Given the description of an element on the screen output the (x, y) to click on. 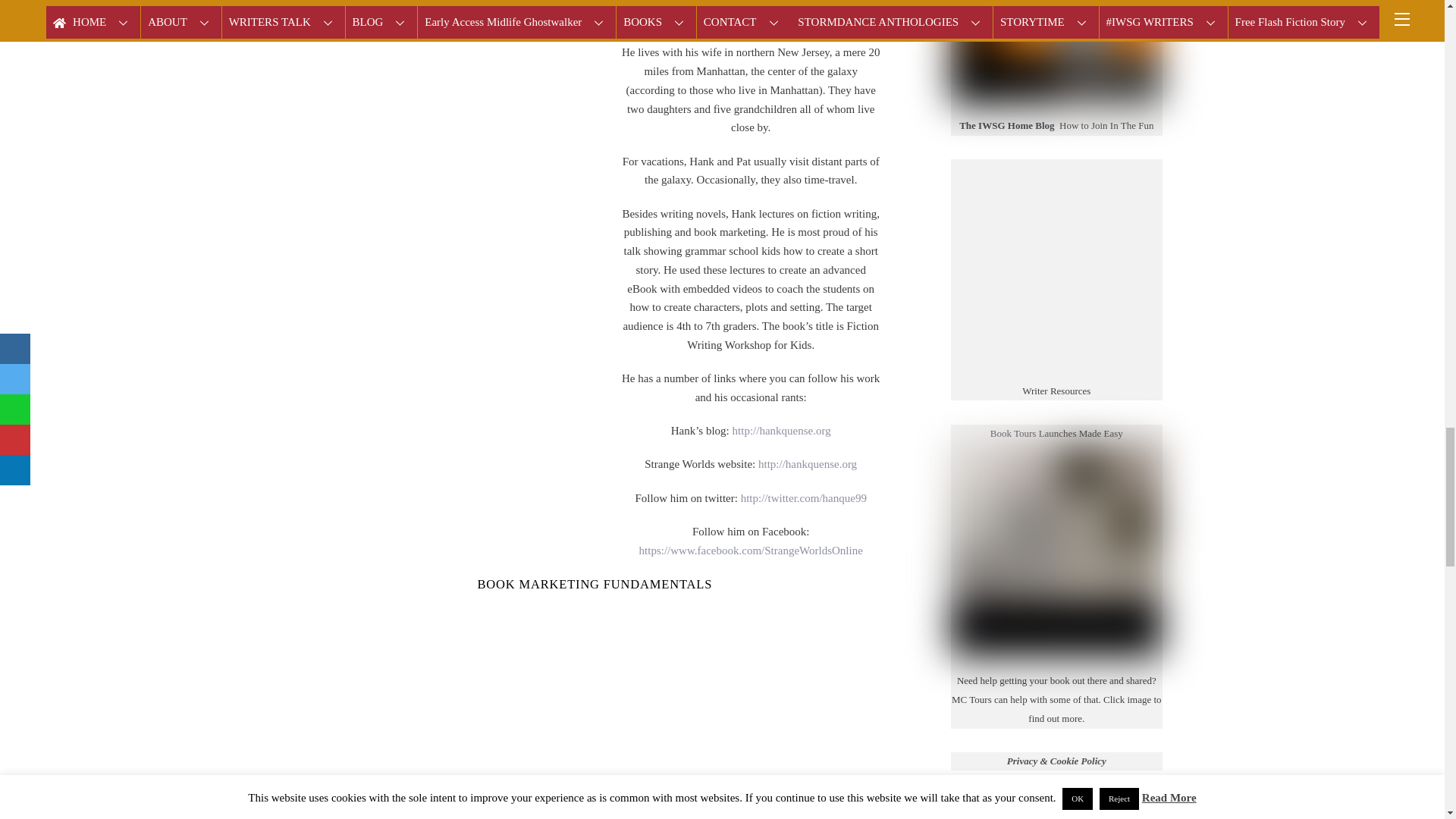
Visit Writers Helping Writers (1056, 260)
Visit One Stop For Writers (1056, 371)
